Given the description of an element on the screen output the (x, y) to click on. 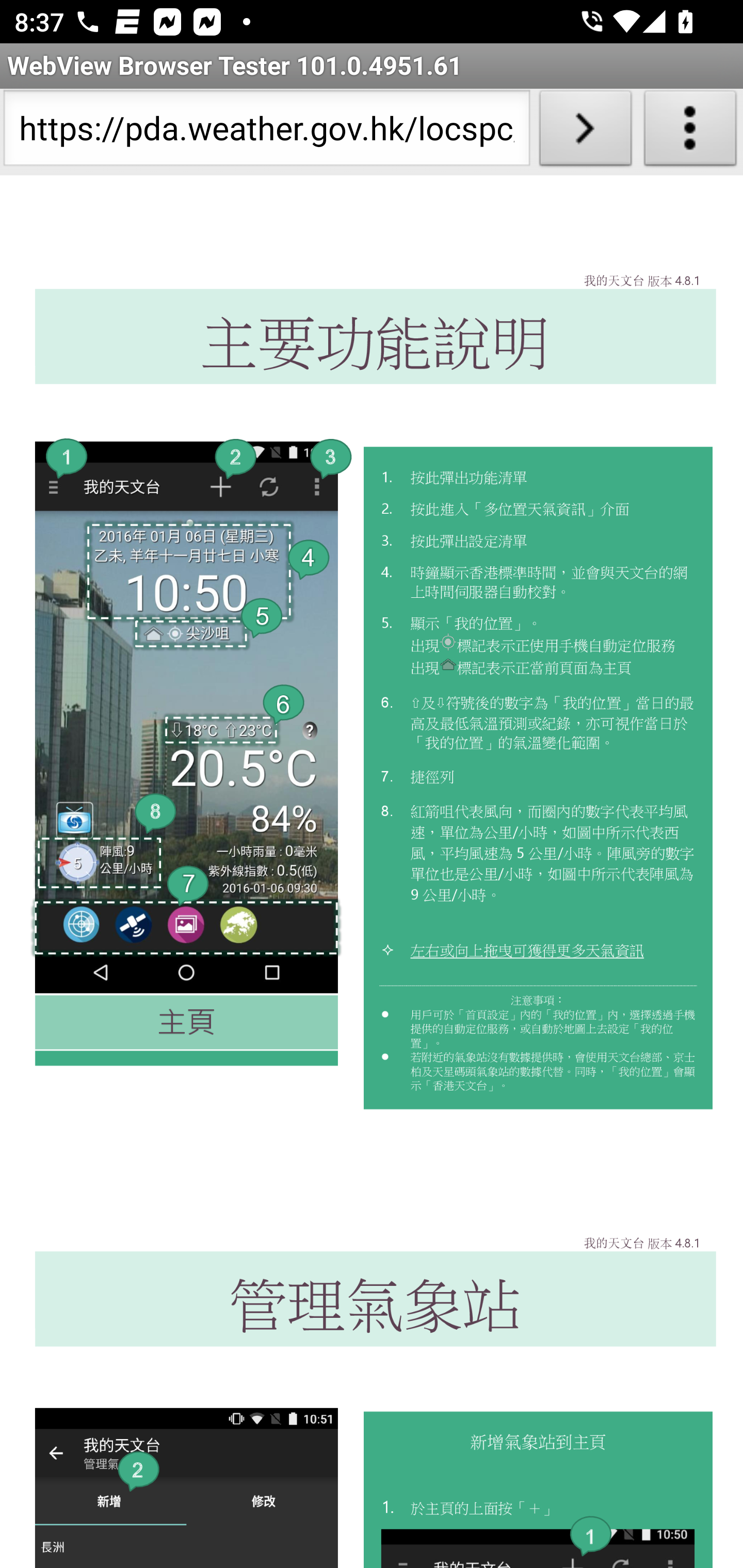
Load URL (585, 132)
About WebView (690, 132)
